Given the description of an element on the screen output the (x, y) to click on. 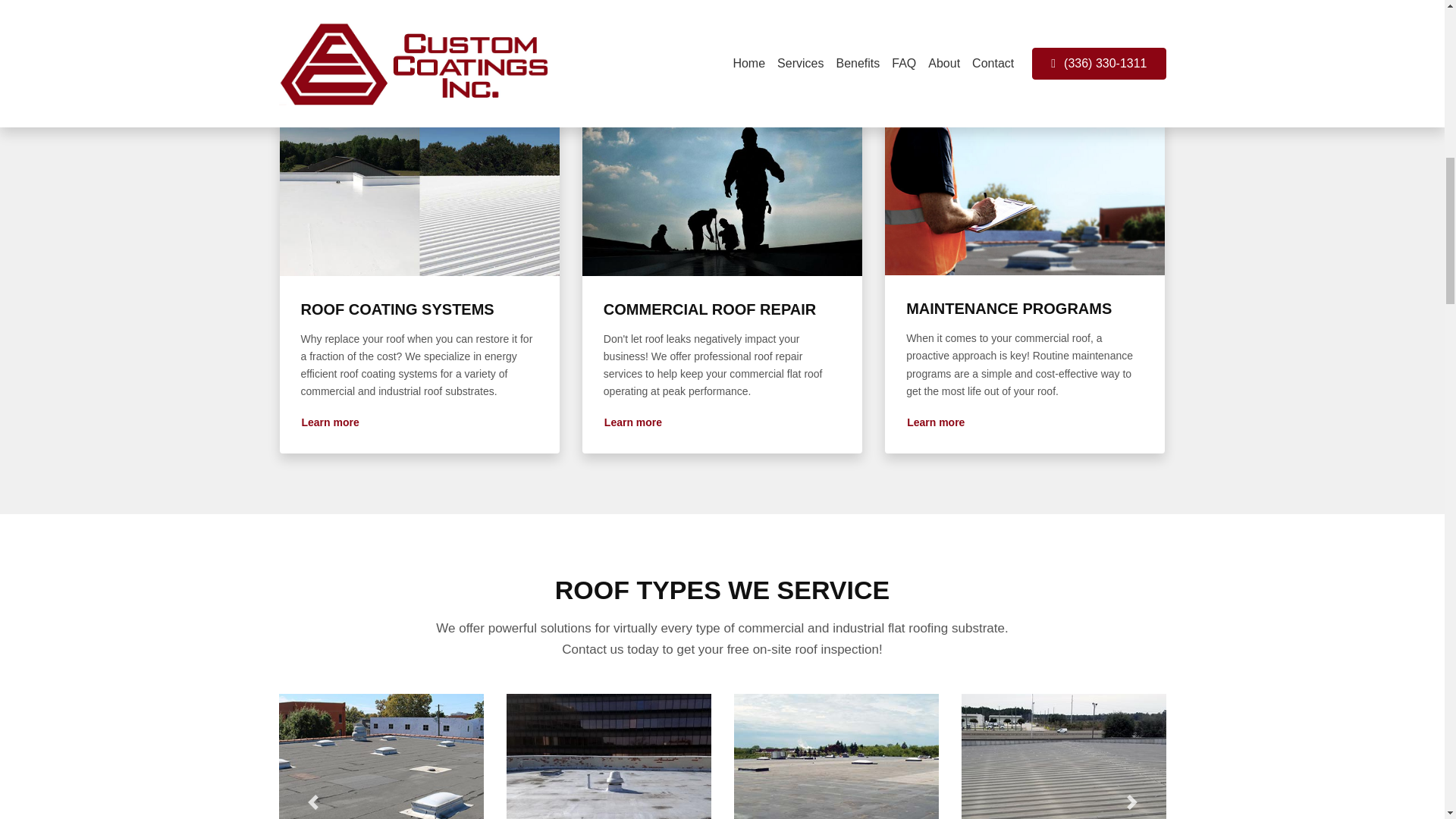
Next (1131, 756)
Learn more (633, 422)
Learn more (329, 422)
Previous (312, 756)
Learn more (935, 422)
